Given the description of an element on the screen output the (x, y) to click on. 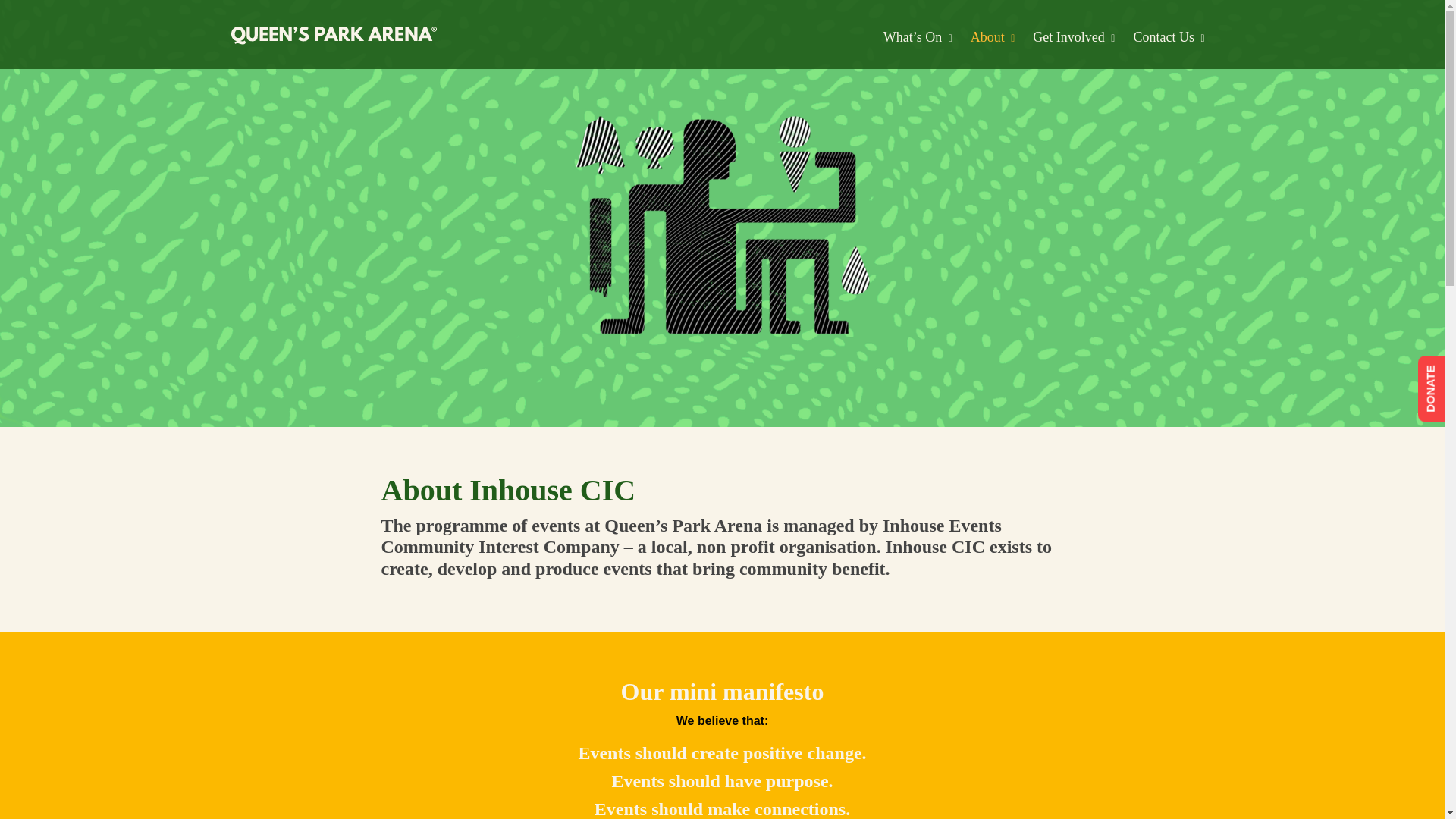
Get Involved (1064, 37)
Contact Us (1160, 37)
About (983, 37)
